Given the description of an element on the screen output the (x, y) to click on. 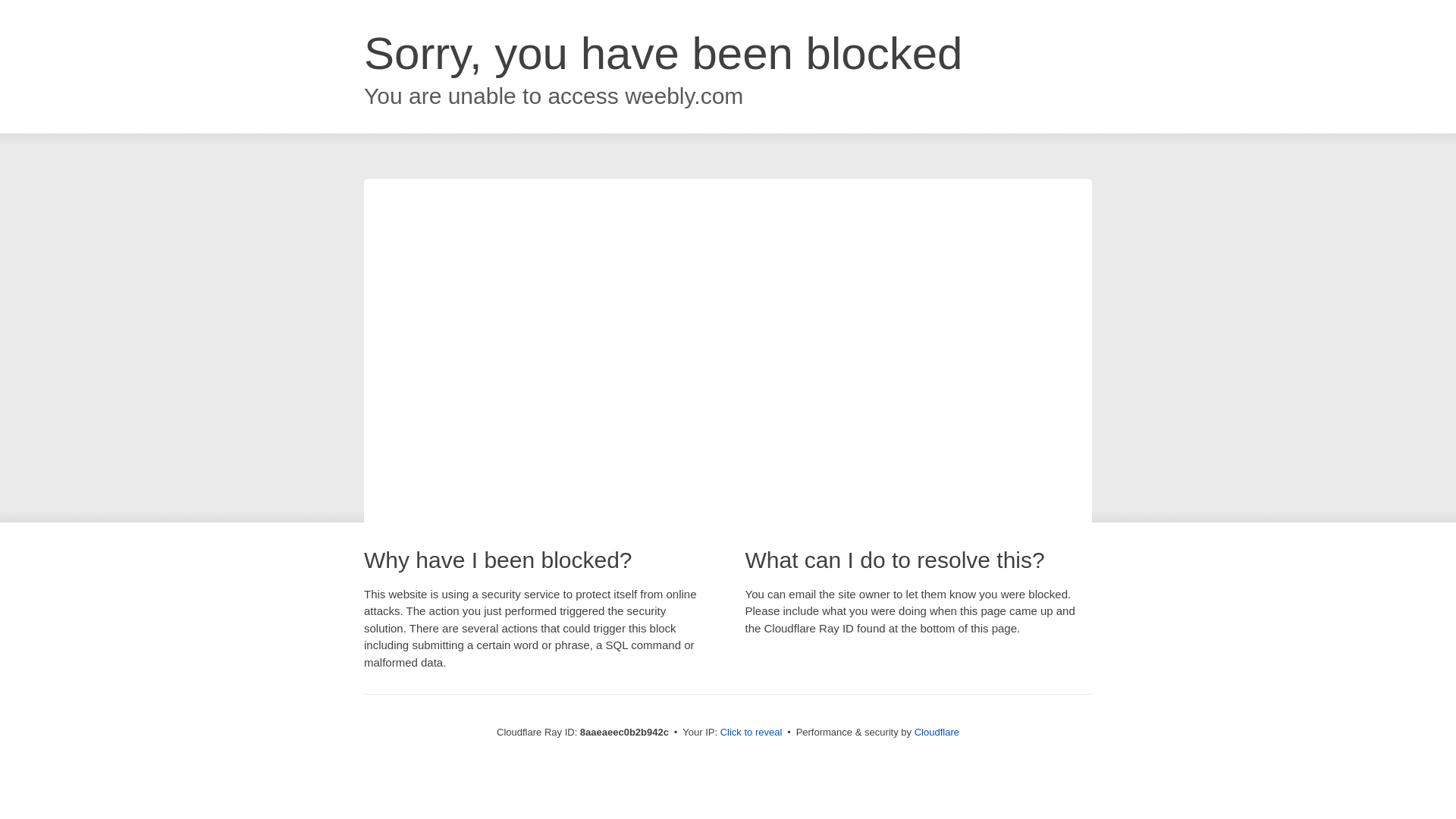
Click to reveal (751, 732)
Cloudflare (936, 731)
